Given the description of an element on the screen output the (x, y) to click on. 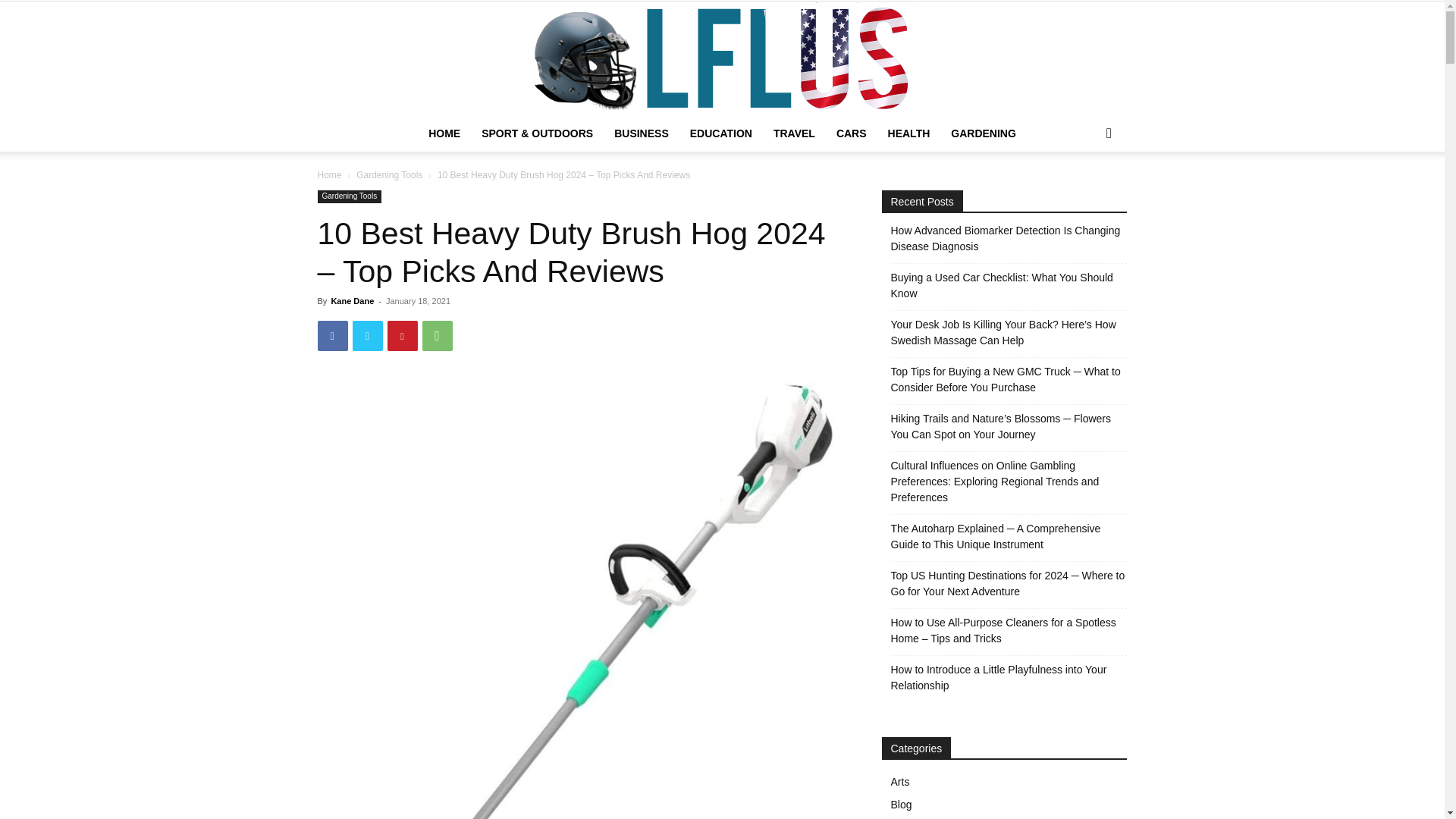
Gardening Tools (349, 196)
Search (1085, 193)
WhatsApp (436, 336)
HEALTH (908, 133)
HOME (443, 133)
CARS (851, 133)
View all posts in Gardening Tools (389, 174)
EDUCATION (720, 133)
Twitter (366, 336)
